Given the description of an element on the screen output the (x, y) to click on. 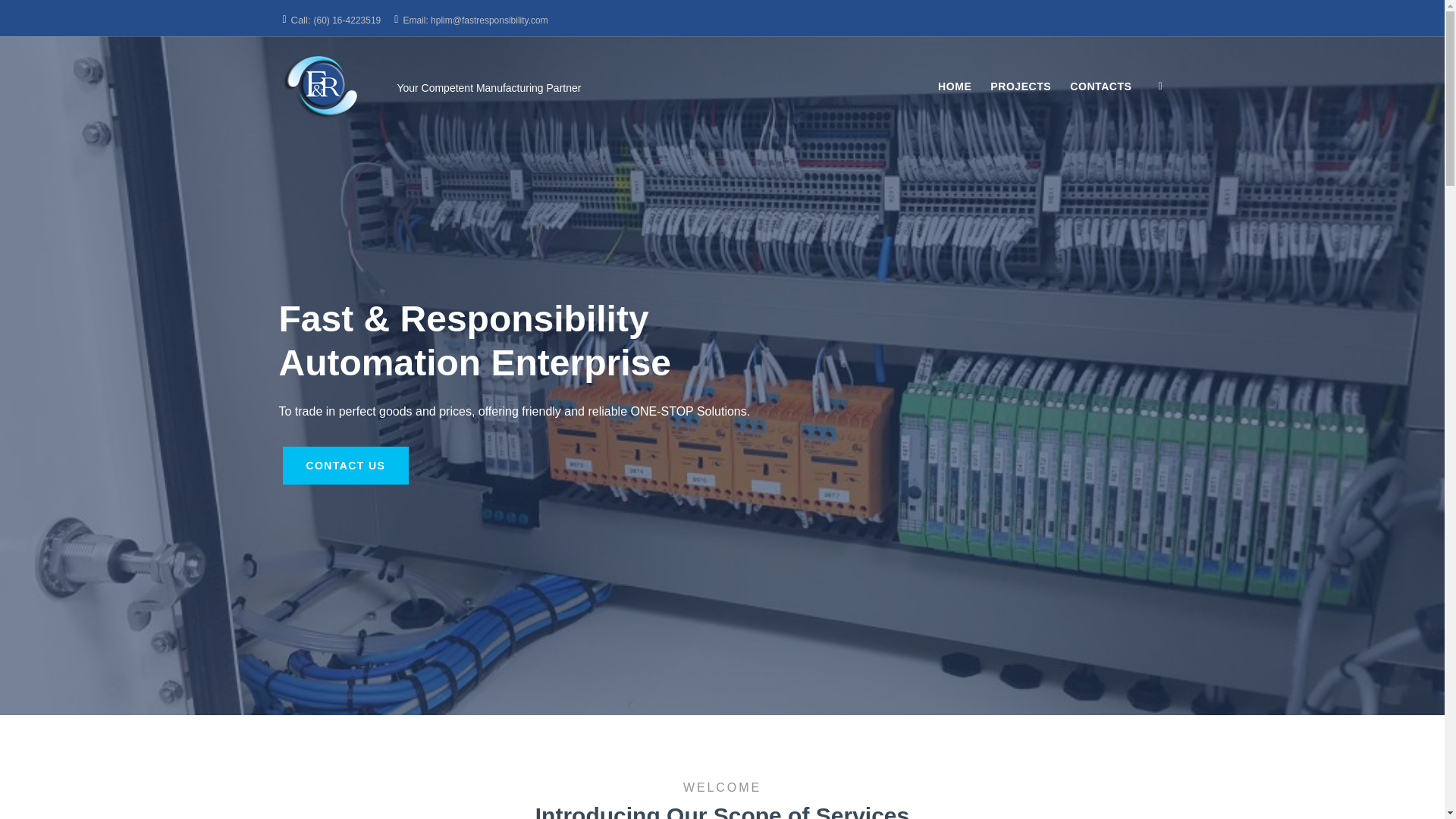
CONTACT US (345, 465)
PROJECTS (1020, 86)
HOME (954, 86)
CONTACTS (1100, 86)
